Given the description of an element on the screen output the (x, y) to click on. 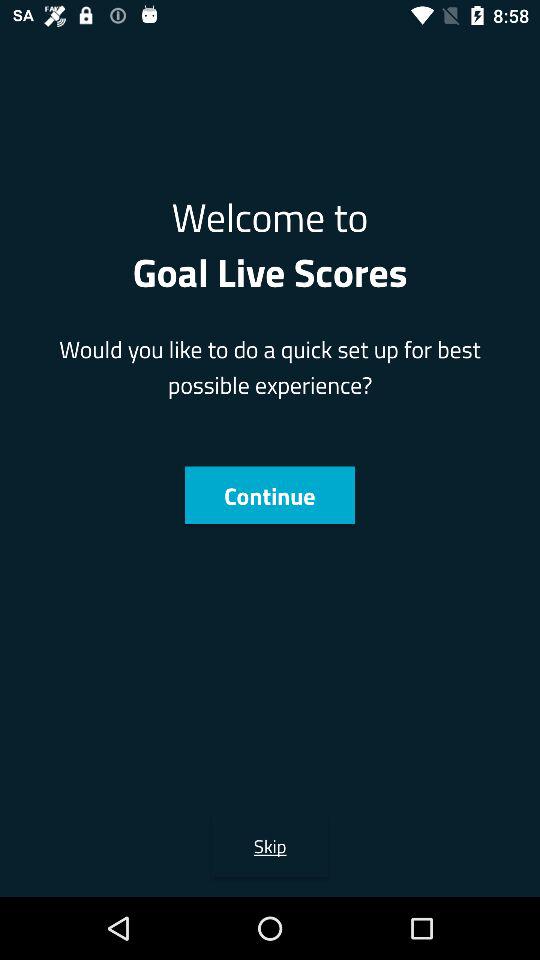
turn off the skip (269, 845)
